Given the description of an element on the screen output the (x, y) to click on. 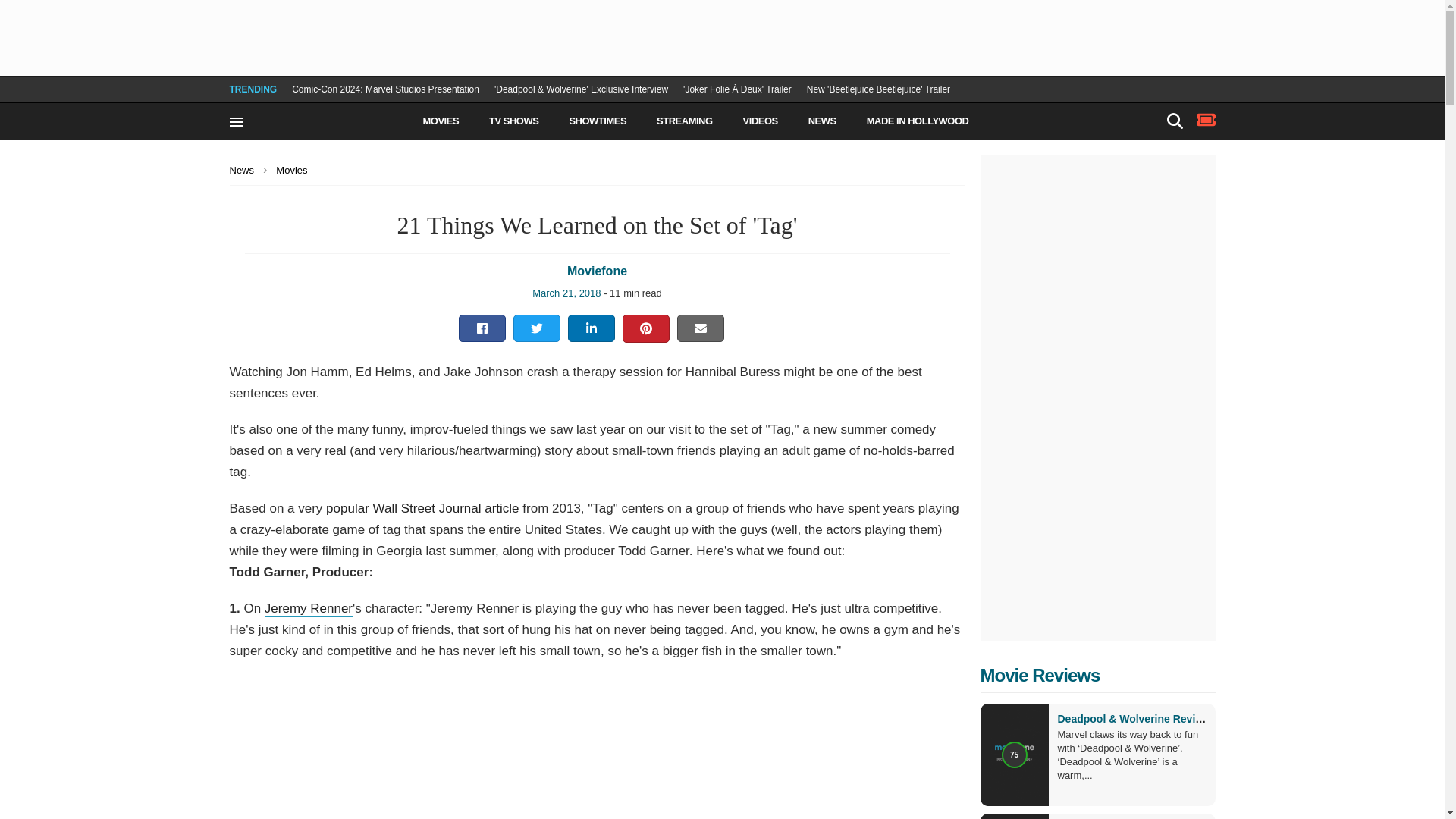
TV SHOWS (513, 120)
Share on Twitter (536, 328)
Moviefone (331, 116)
VIDEOS (759, 120)
New 'Beetlejuice Beetlejuice' Trailer (878, 89)
Movies (295, 170)
Share on Email (700, 328)
NEWS (821, 120)
Share on Pinterest (645, 328)
Share on Facebook (482, 328)
Comic-Con 2024: Marvel Studios Presentation (385, 89)
STREAMING (684, 120)
March 21, 2018 (565, 292)
MADE IN HOLLYWOOD (917, 120)
Moviefone (597, 270)
